Given the description of an element on the screen output the (x, y) to click on. 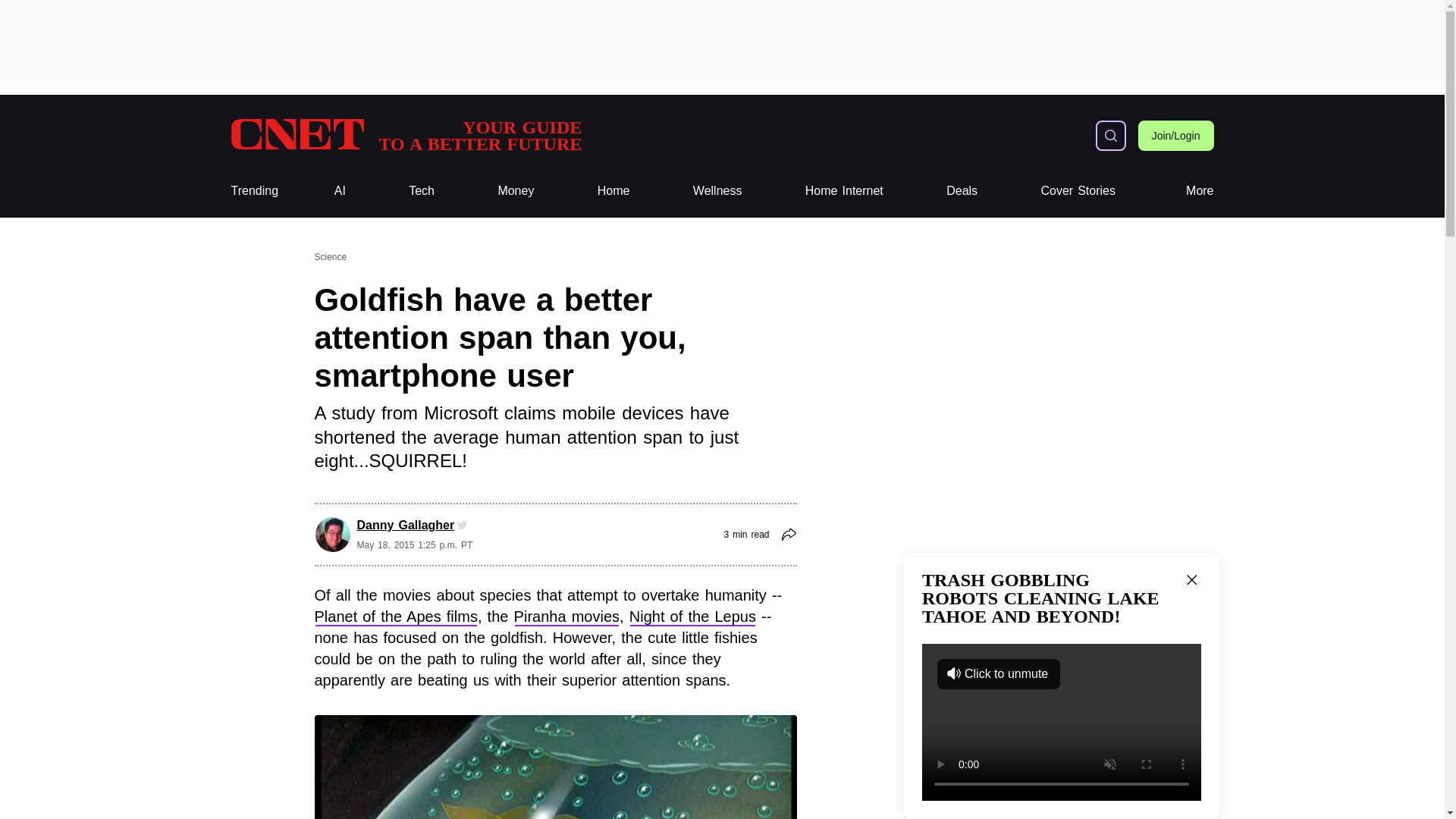
Home Internet (844, 190)
Home Internet (844, 190)
Home (613, 190)
Deals (961, 190)
Cover Stories (1078, 190)
Trending (254, 190)
Home (613, 190)
Money (515, 190)
Trending (254, 190)
Tech (405, 135)
CNET (421, 190)
Wellness (405, 135)
Tech (717, 190)
Money (421, 190)
